Given the description of an element on the screen output the (x, y) to click on. 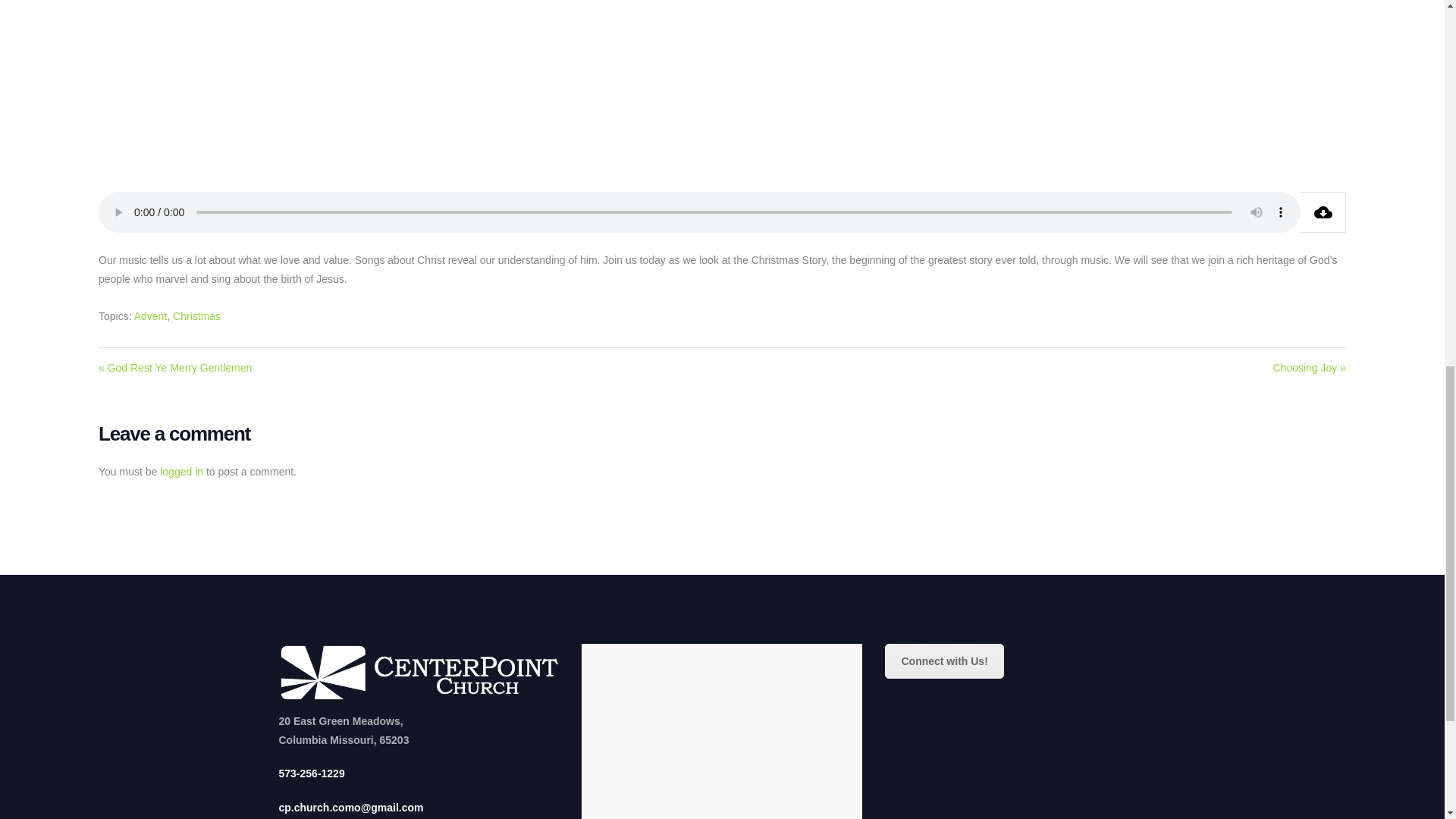
Download Audio File (1322, 211)
Connect (944, 660)
